Given the description of an element on the screen output the (x, y) to click on. 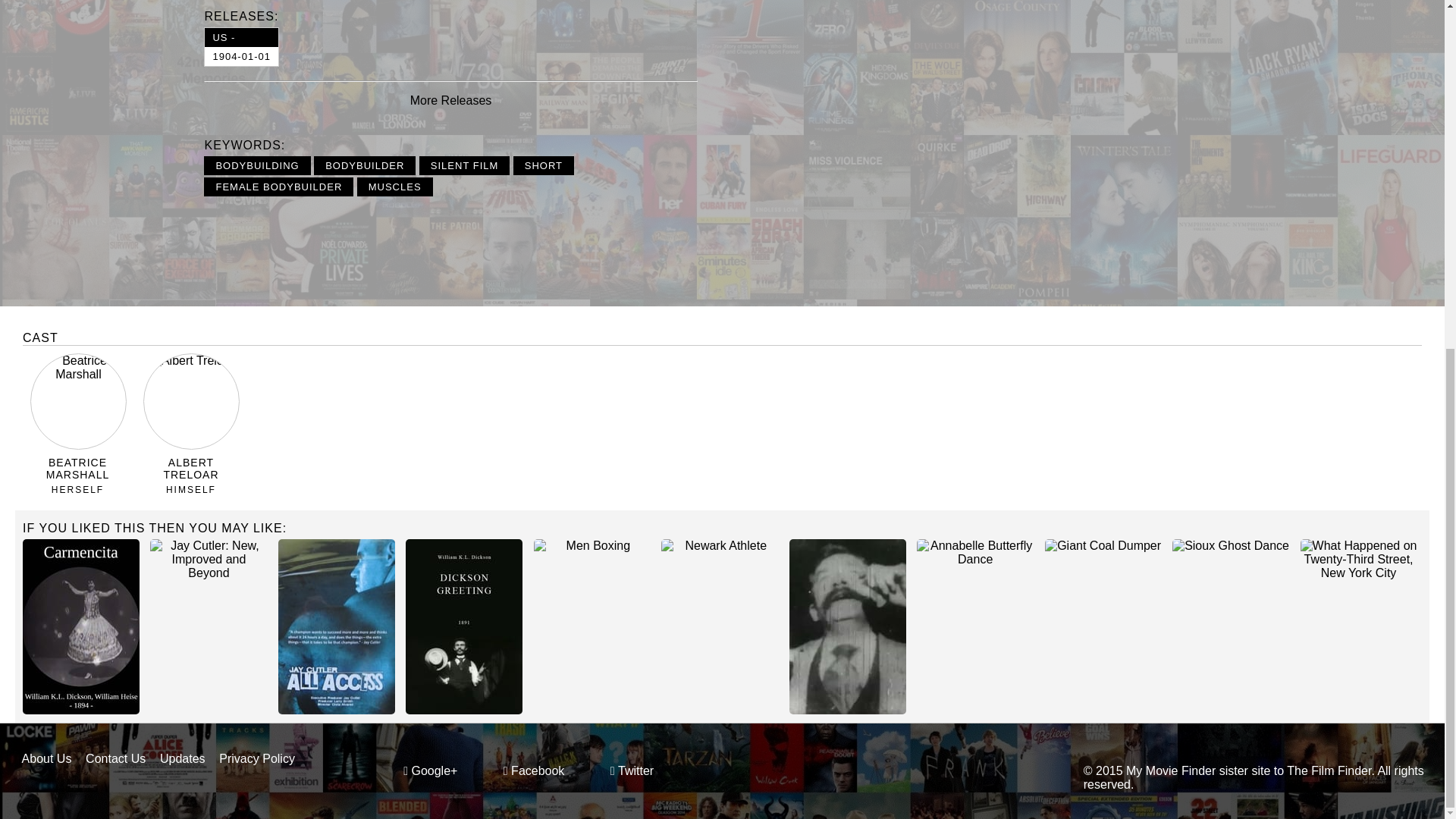
BODYBUILDER (241, 46)
SILENT FILM (364, 165)
MUSCLES (465, 165)
BODYBUILDING (394, 186)
FEMALE BODYBUILDER (256, 165)
Privacy Policy (278, 186)
SHORT (257, 758)
